Given the description of an element on the screen output the (x, y) to click on. 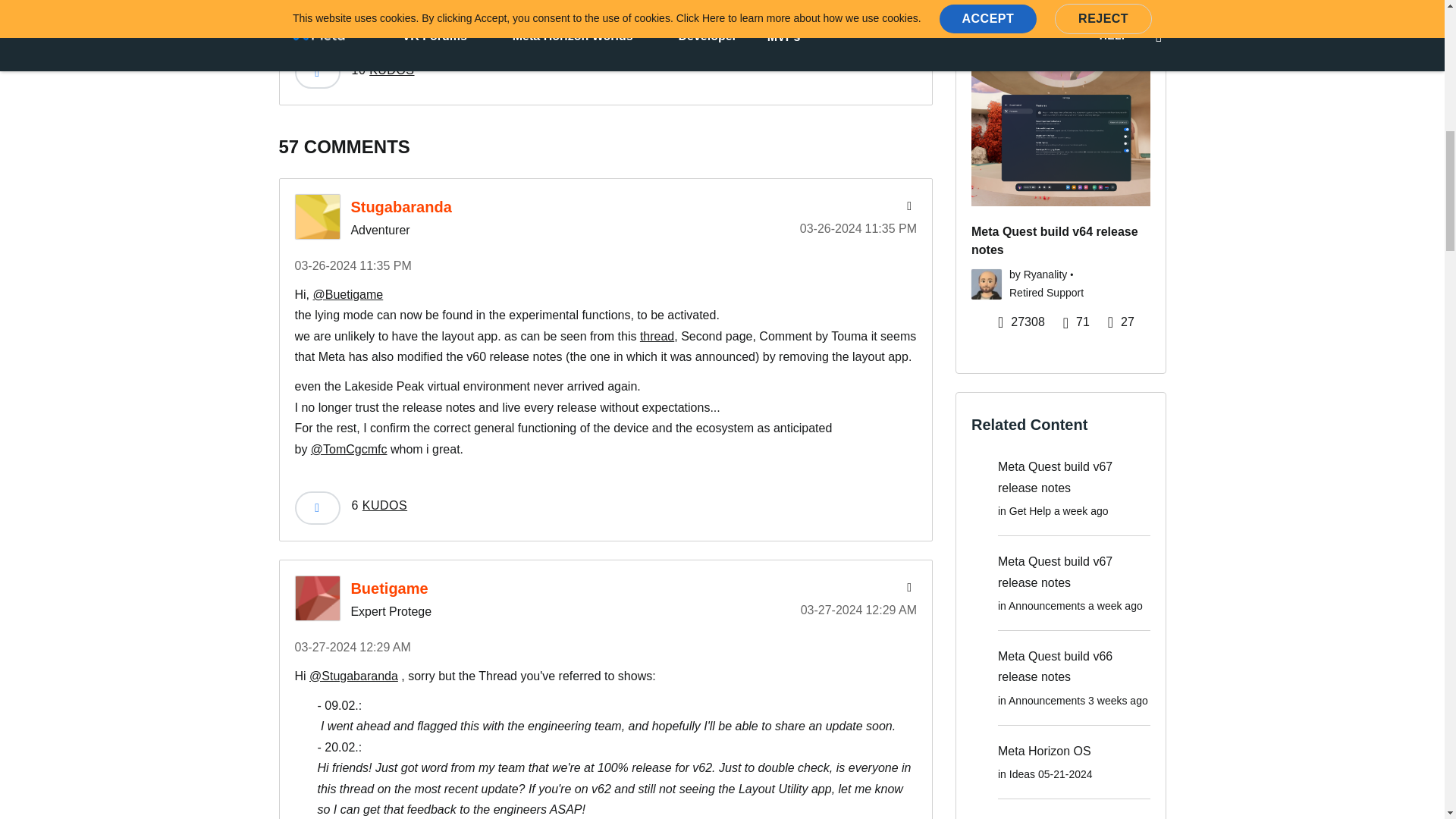
Click here to give kudos to this post. (316, 72)
Stugabaranda (316, 216)
Click here to see who gave kudos to this post. (382, 70)
